Given the description of an element on the screen output the (x, y) to click on. 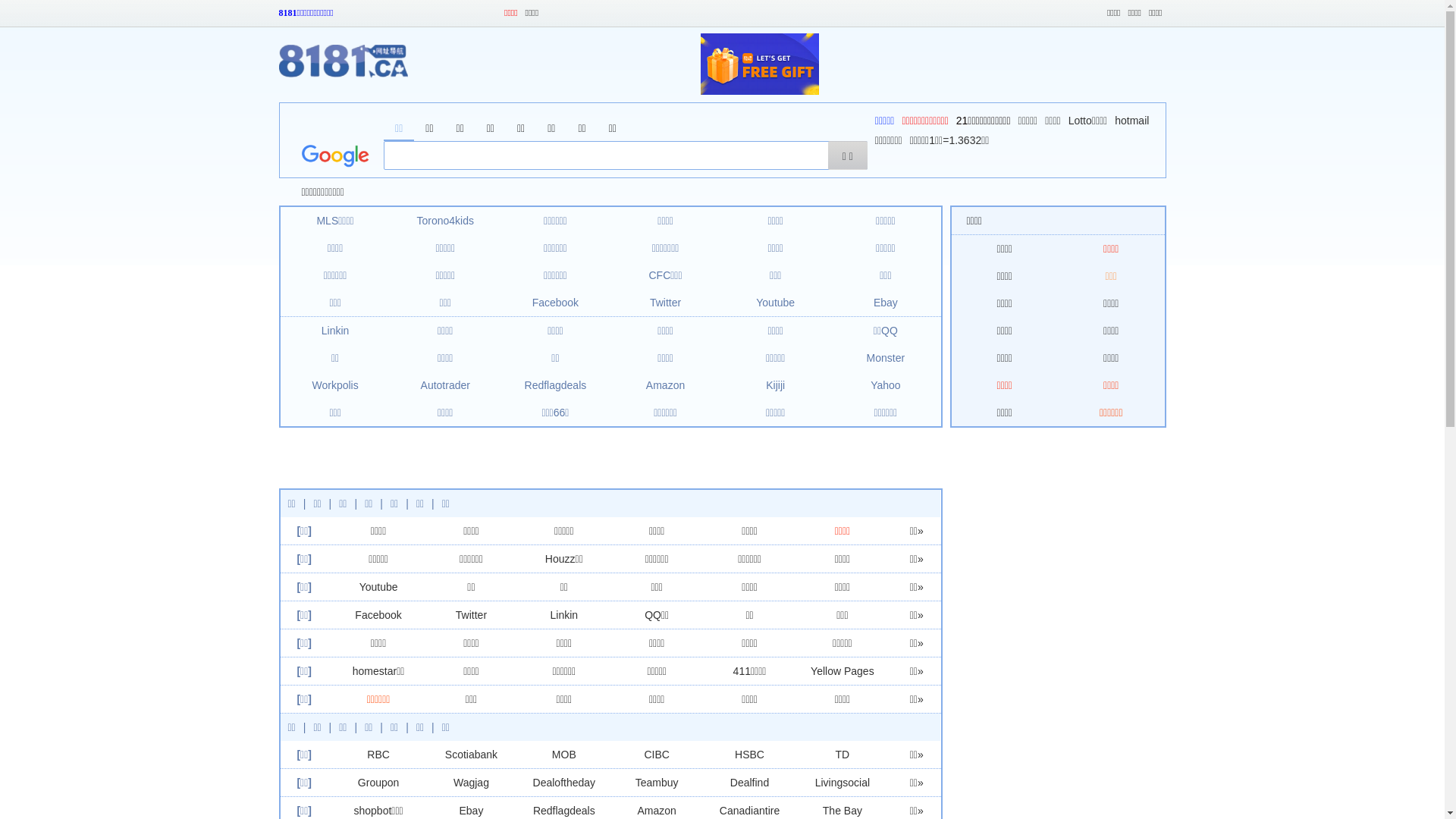
Linkin Element type: text (335, 330)
Dealoftheday Element type: text (564, 782)
Amazon Element type: text (665, 385)
Youtube Element type: text (775, 302)
The Bay Element type: text (842, 810)
Ebay Element type: text (470, 810)
Twitter Element type: text (470, 614)
TD Element type: text (842, 754)
Advertisement Element type: hover (582, 457)
Facebook Element type: text (377, 614)
Workpolis Element type: text (334, 385)
Advertisement Element type: hover (1050, 63)
Torono4kids Element type: text (444, 220)
Yahoo Element type: text (885, 385)
Teambuy Element type: text (656, 782)
Canadiantire Element type: text (749, 810)
Scotiabank Element type: text (471, 754)
hotmail Element type: text (1131, 120)
CIBC Element type: text (655, 754)
MOB Element type: text (564, 754)
Monster Element type: text (885, 357)
Amazon Element type: text (656, 810)
Redflagdeals Element type: text (555, 385)
Groupon Element type: text (377, 782)
Redflagdeals Element type: text (564, 810)
Facebook Element type: text (555, 302)
Kijiji Element type: text (774, 385)
Linkin Element type: text (564, 614)
Wagjag Element type: text (471, 782)
Dealfind Element type: text (749, 782)
Livingsocial Element type: text (842, 782)
RBC Element type: text (378, 754)
Autotrader Element type: text (445, 385)
Ebay Element type: text (885, 302)
Youtube Element type: text (378, 586)
HSBC Element type: text (749, 754)
Yellow Pages Element type: text (842, 671)
Twitter Element type: text (664, 302)
